Given the description of an element on the screen output the (x, y) to click on. 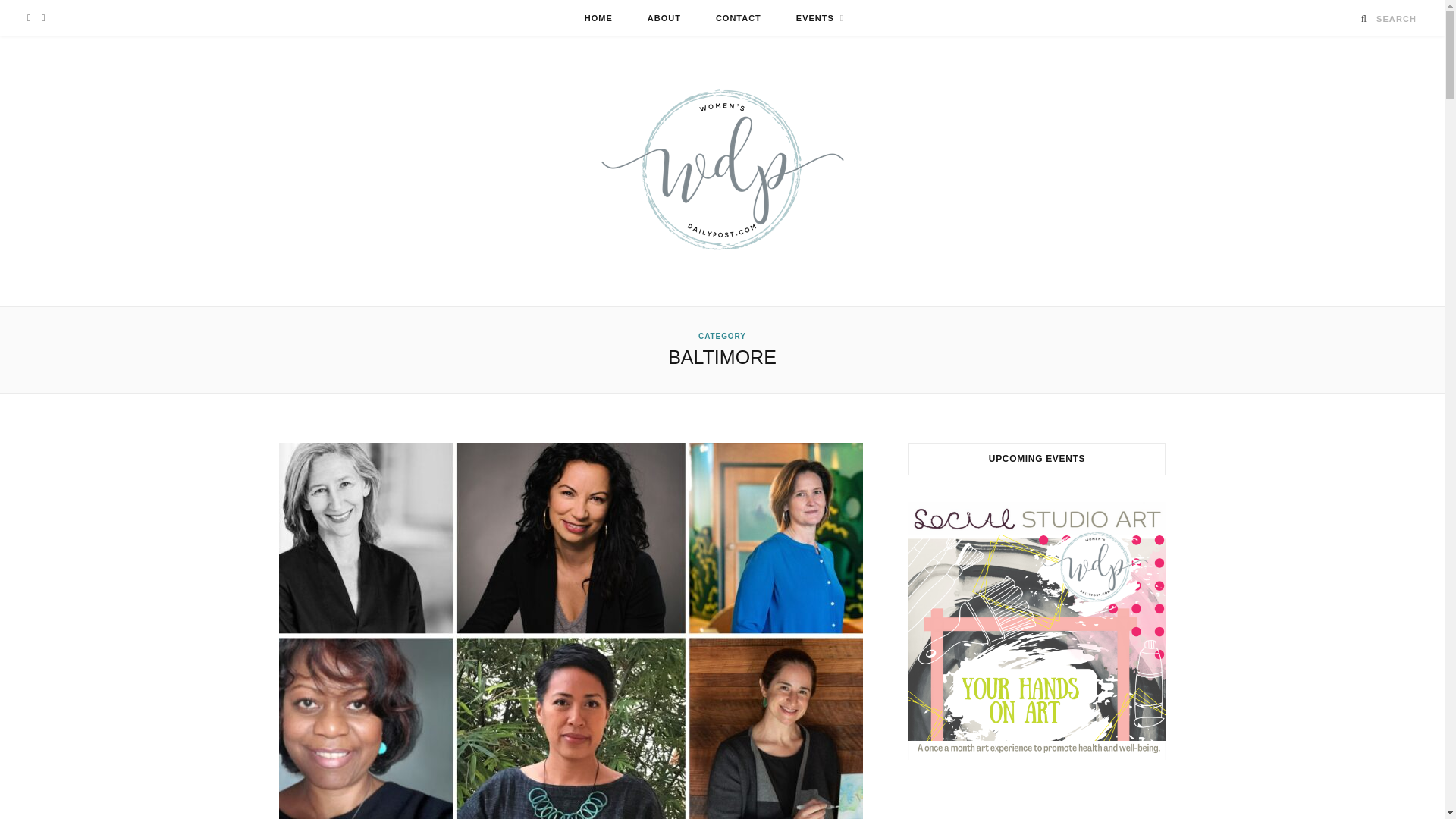
Women's Daily Post (721, 171)
ABOUT (664, 18)
EVENTS (820, 18)
CONTACT (738, 18)
HOME (598, 18)
